Given the description of an element on the screen output the (x, y) to click on. 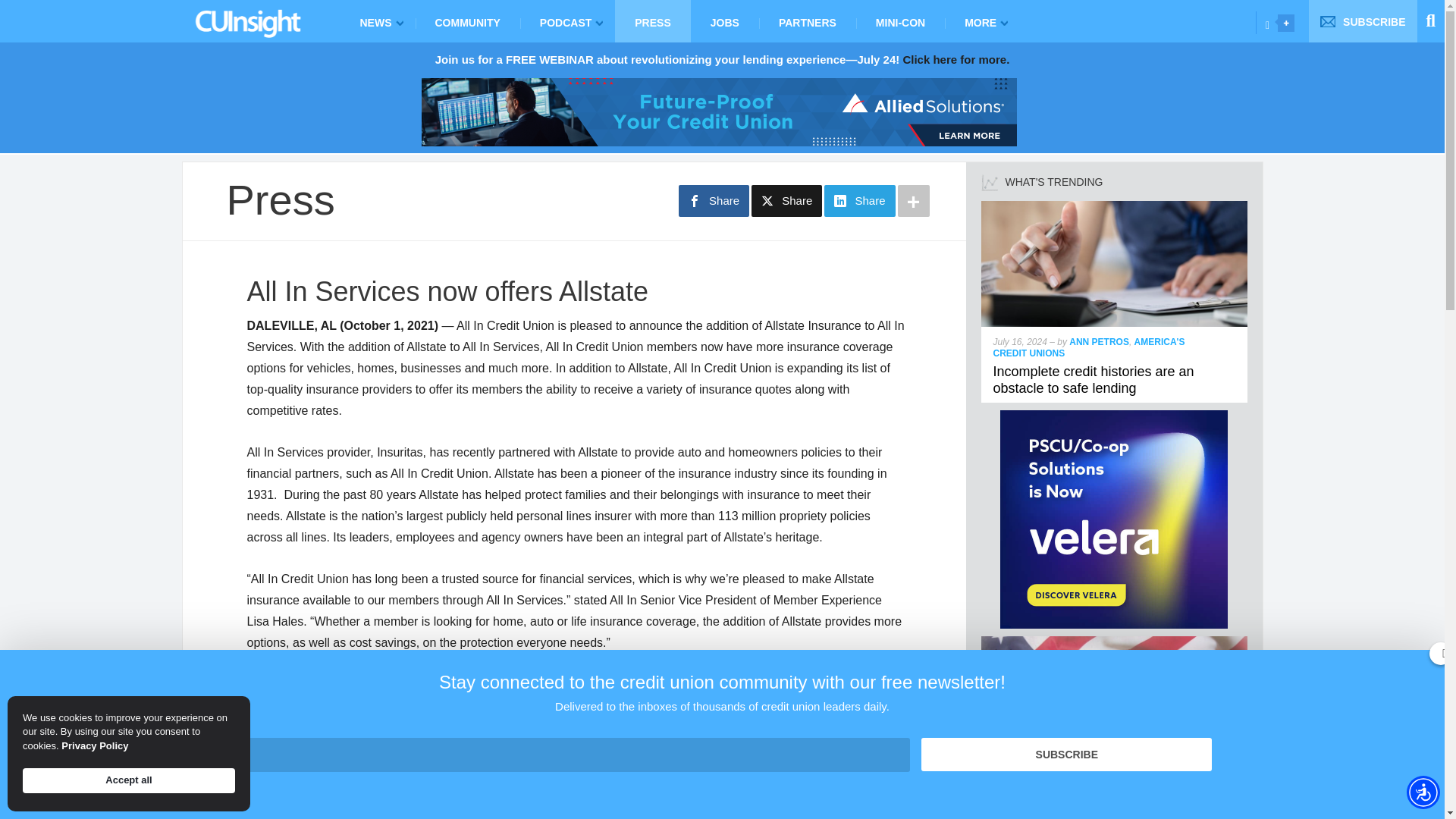
COMMUNITY (466, 21)
Subscribe (1066, 754)
Incomplete credit histories are an obstacle to safe lending (1114, 206)
Press (279, 199)
Share (786, 201)
MORE (982, 21)
PODCAST (566, 21)
Linkedin (1267, 24)
MINI-CON (900, 21)
PRESS (652, 21)
JOBS (724, 21)
We the People (1114, 642)
PARTNERS (807, 21)
Share (713, 201)
We the People (1037, 795)
